Given the description of an element on the screen output the (x, y) to click on. 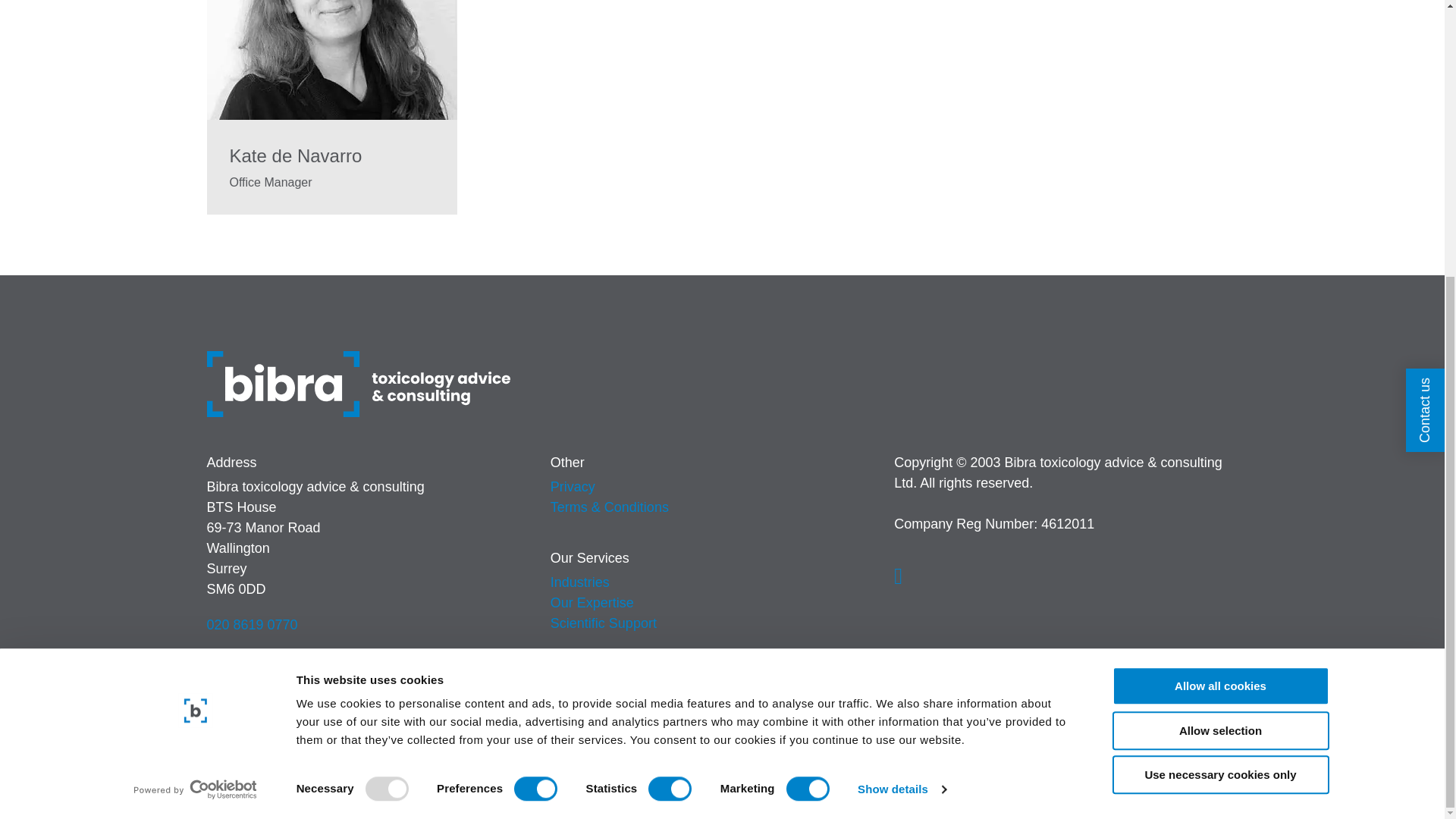
Show details (900, 378)
Allow all cookies (1219, 275)
Bibra (357, 383)
Use necessary cookies only (1219, 364)
Allow selection (1219, 320)
